Given the description of an element on the screen output the (x, y) to click on. 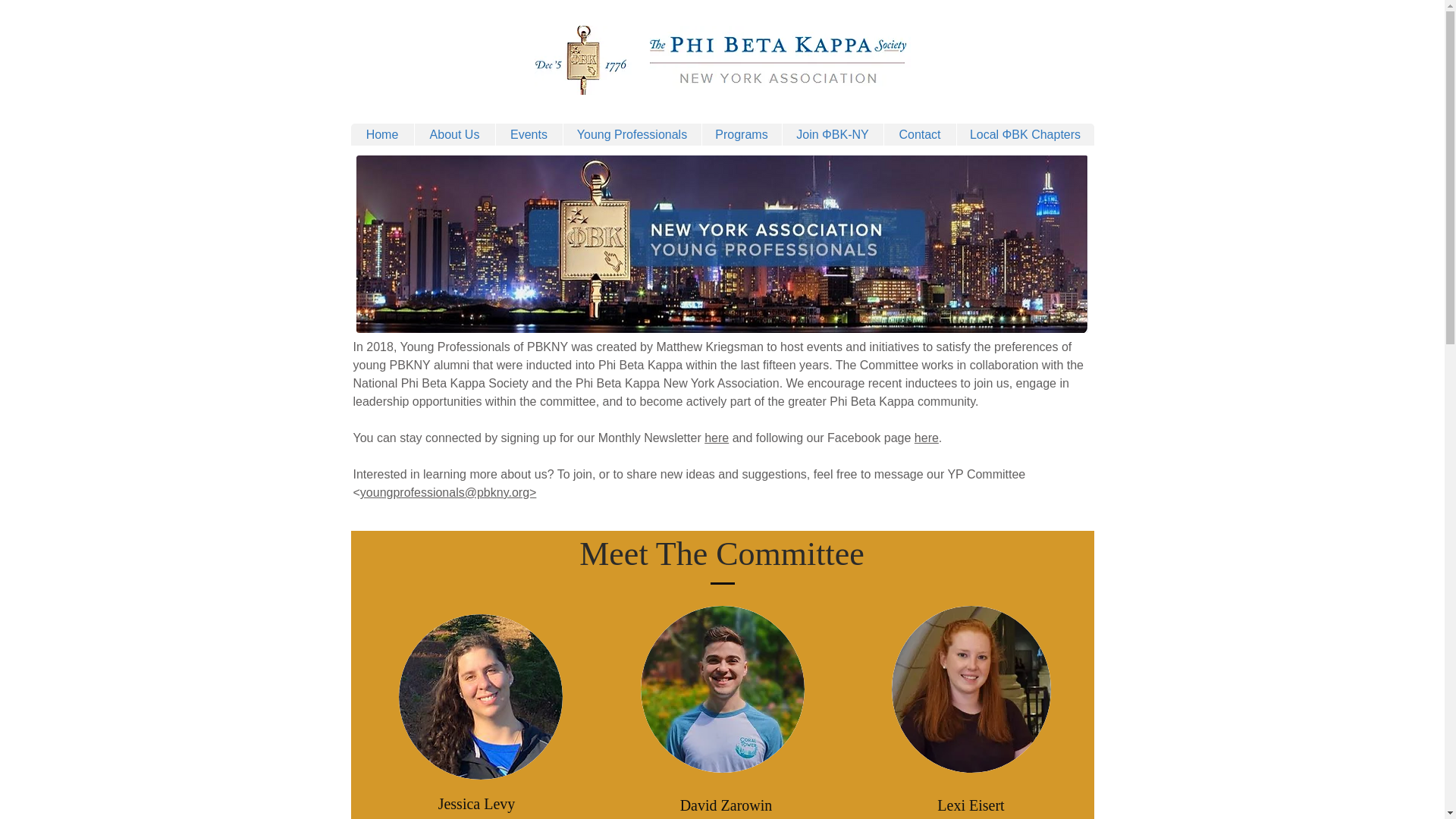
guy3.jpg (971, 689)
here (926, 437)
guy2.jpg (480, 696)
About Us (454, 134)
Young Professionals (631, 134)
Events (528, 134)
Home (381, 134)
here (716, 437)
Contact (918, 134)
guy4.jpg (721, 689)
